Given the description of an element on the screen output the (x, y) to click on. 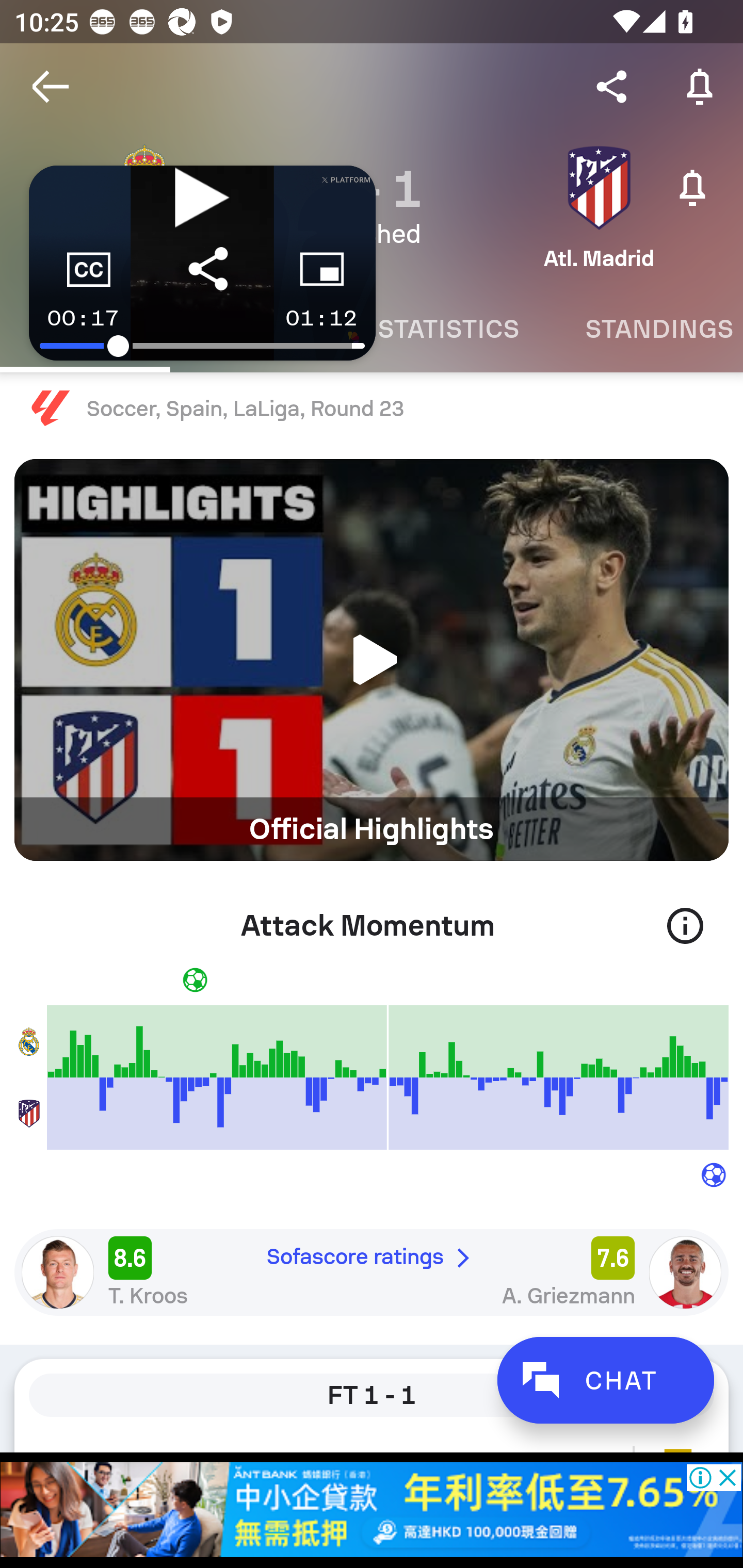
Navigate up (50, 86)
Statistics STATISTICS (448, 329)
Standings STANDINGS (647, 329)
Soccer, Spain, LaLiga, Round 23 (371, 409)
8.6 Sofascore ratings 7.6 T. Kroos A. Griezmann (371, 1272)
CHAT (605, 1380)
